Given the description of an element on the screen output the (x, y) to click on. 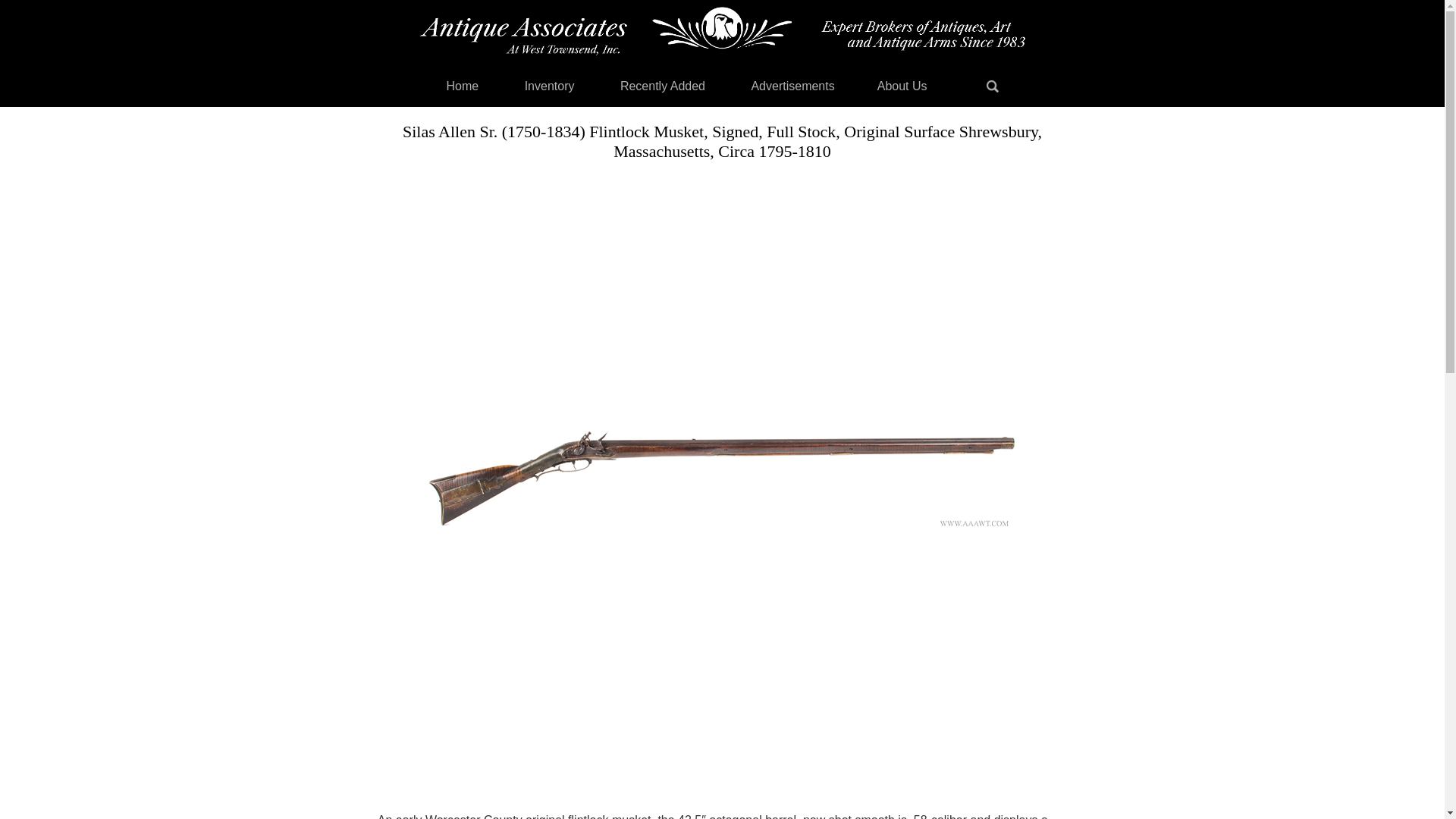
Inventory (549, 85)
Home (462, 85)
